Given the description of an element on the screen output the (x, y) to click on. 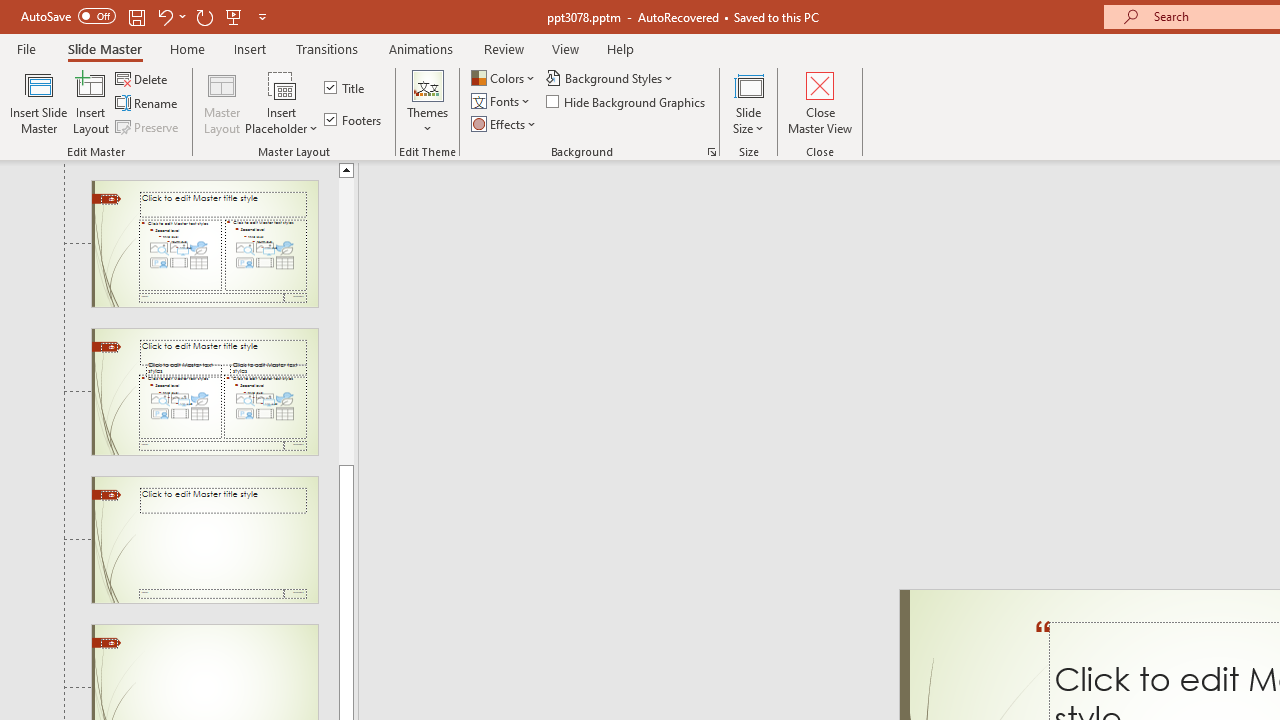
Colors (504, 78)
Format Background... (711, 151)
Preserve (148, 126)
Themes (427, 102)
Close Master View (820, 102)
Fonts (502, 101)
Effects (505, 124)
Slide Master (104, 48)
Insert Slide Master (38, 102)
Content (282, 84)
